Given the description of an element on the screen output the (x, y) to click on. 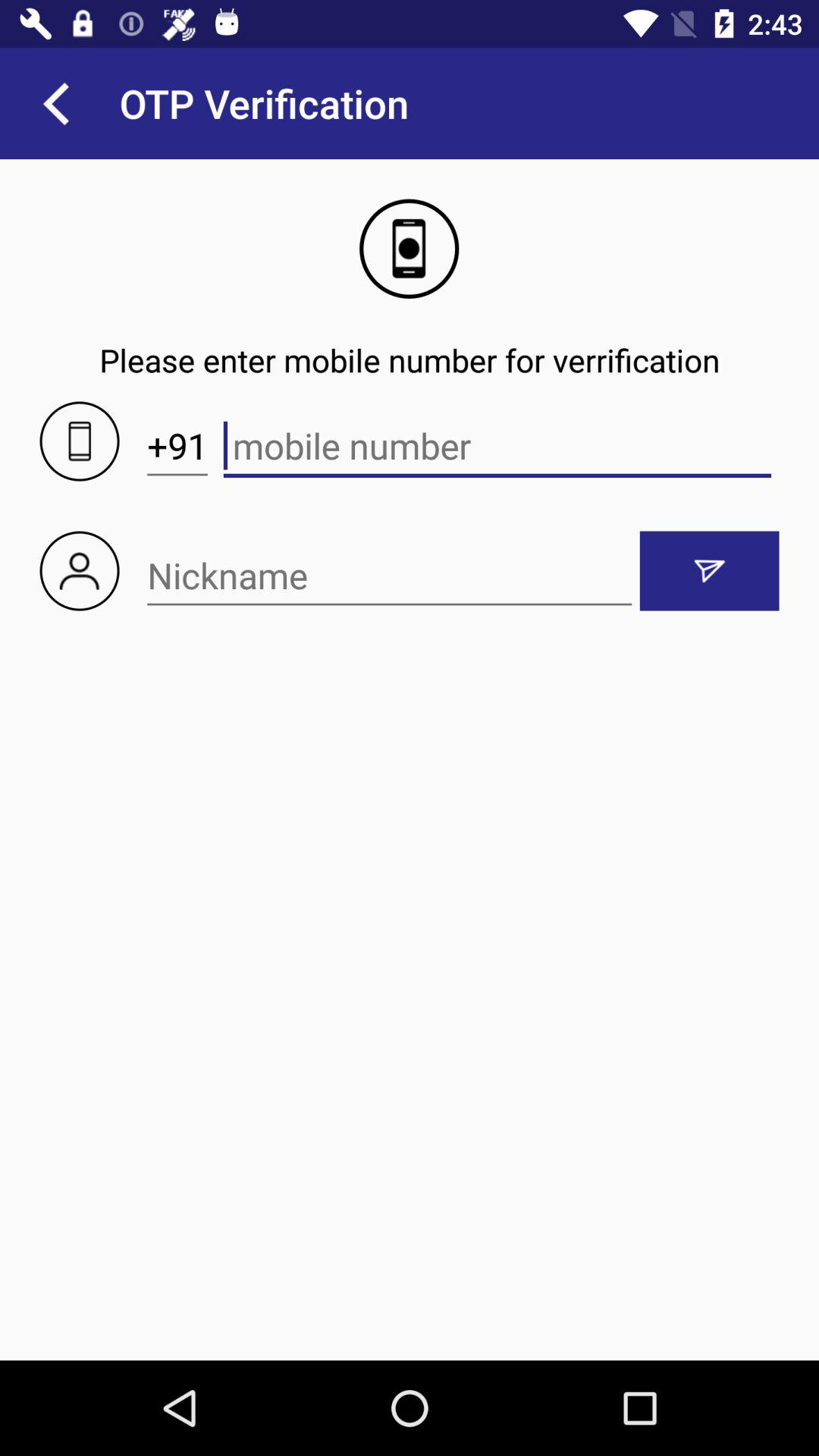
choose +91 icon (177, 446)
